Given the description of an element on the screen output the (x, y) to click on. 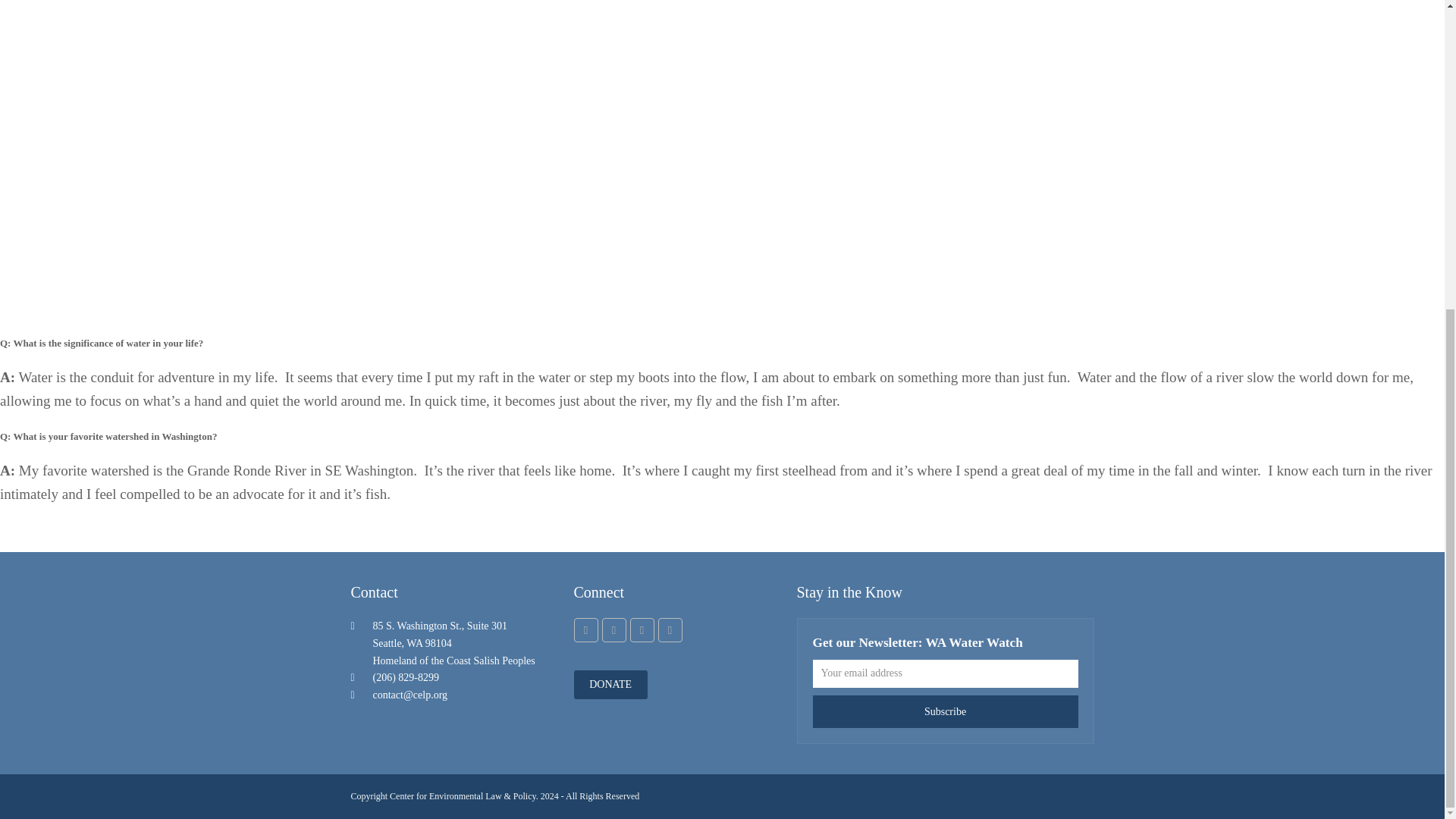
Instagram (640, 630)
Twitter (584, 630)
Facebook (614, 630)
Youtube (670, 630)
